Given the description of an element on the screen output the (x, y) to click on. 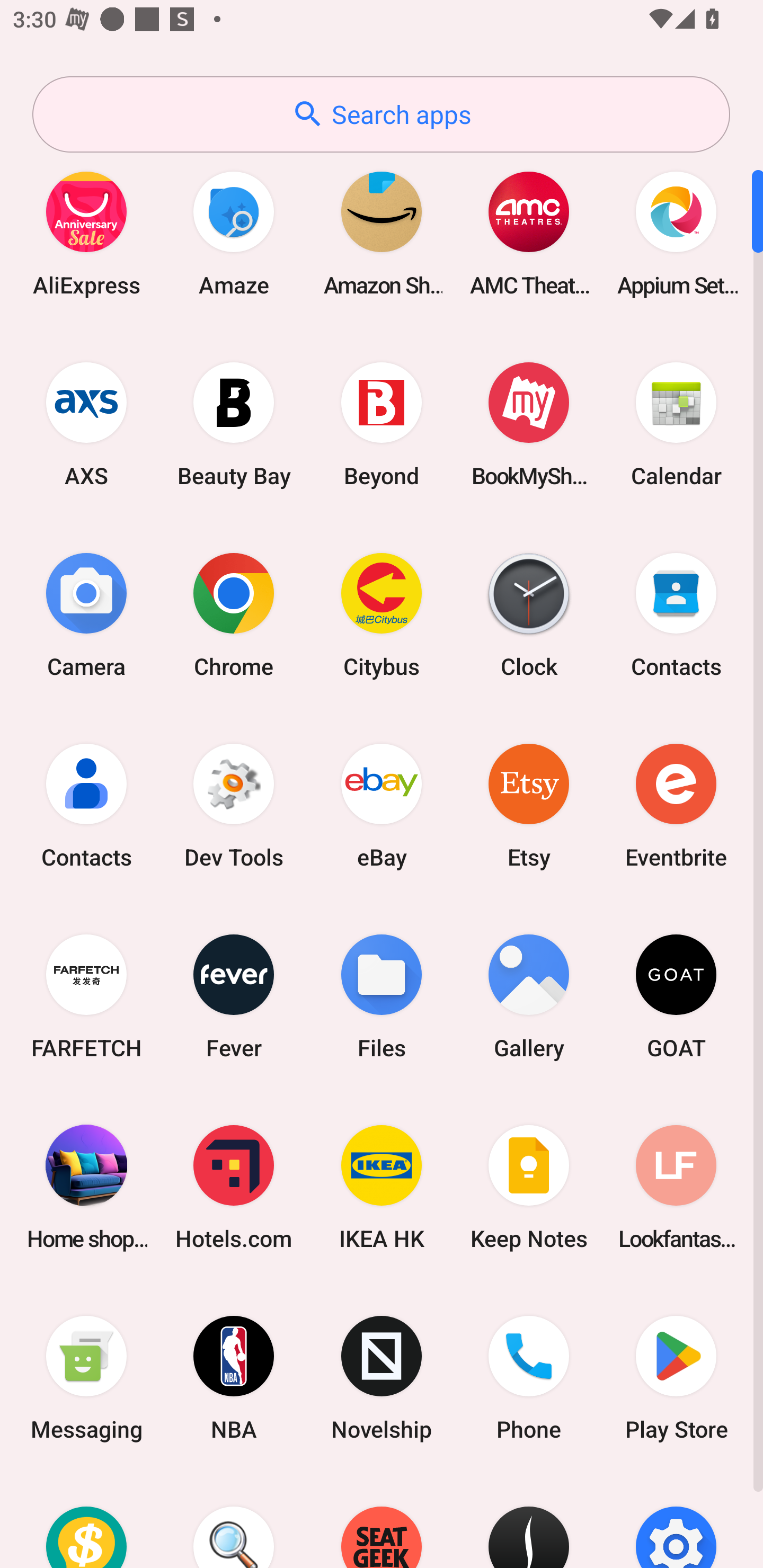
  Search apps (381, 114)
AliExpress (86, 233)
Amaze (233, 233)
Amazon Shopping (381, 233)
AMC Theatres (528, 233)
Appium Settings (676, 233)
AXS (86, 424)
Beauty Bay (233, 424)
Beyond (381, 424)
BookMyShow (528, 424)
Calendar (676, 424)
Camera (86, 614)
Chrome (233, 614)
Citybus (381, 614)
Clock (528, 614)
Contacts (676, 614)
Contacts (86, 805)
Dev Tools (233, 805)
eBay (381, 805)
Etsy (528, 805)
Eventbrite (676, 805)
FARFETCH (86, 996)
Fever (233, 996)
Files (381, 996)
Gallery (528, 996)
GOAT (676, 996)
Home shopping (86, 1186)
Hotels.com (233, 1186)
IKEA HK (381, 1186)
Keep Notes (528, 1186)
Lookfantastic (676, 1186)
Messaging (86, 1377)
NBA (233, 1377)
Novelship (381, 1377)
Phone (528, 1377)
Play Store (676, 1377)
Price (86, 1520)
Search (233, 1520)
SeatGeek (381, 1520)
Sephora (528, 1520)
Settings (676, 1520)
